Given the description of an element on the screen output the (x, y) to click on. 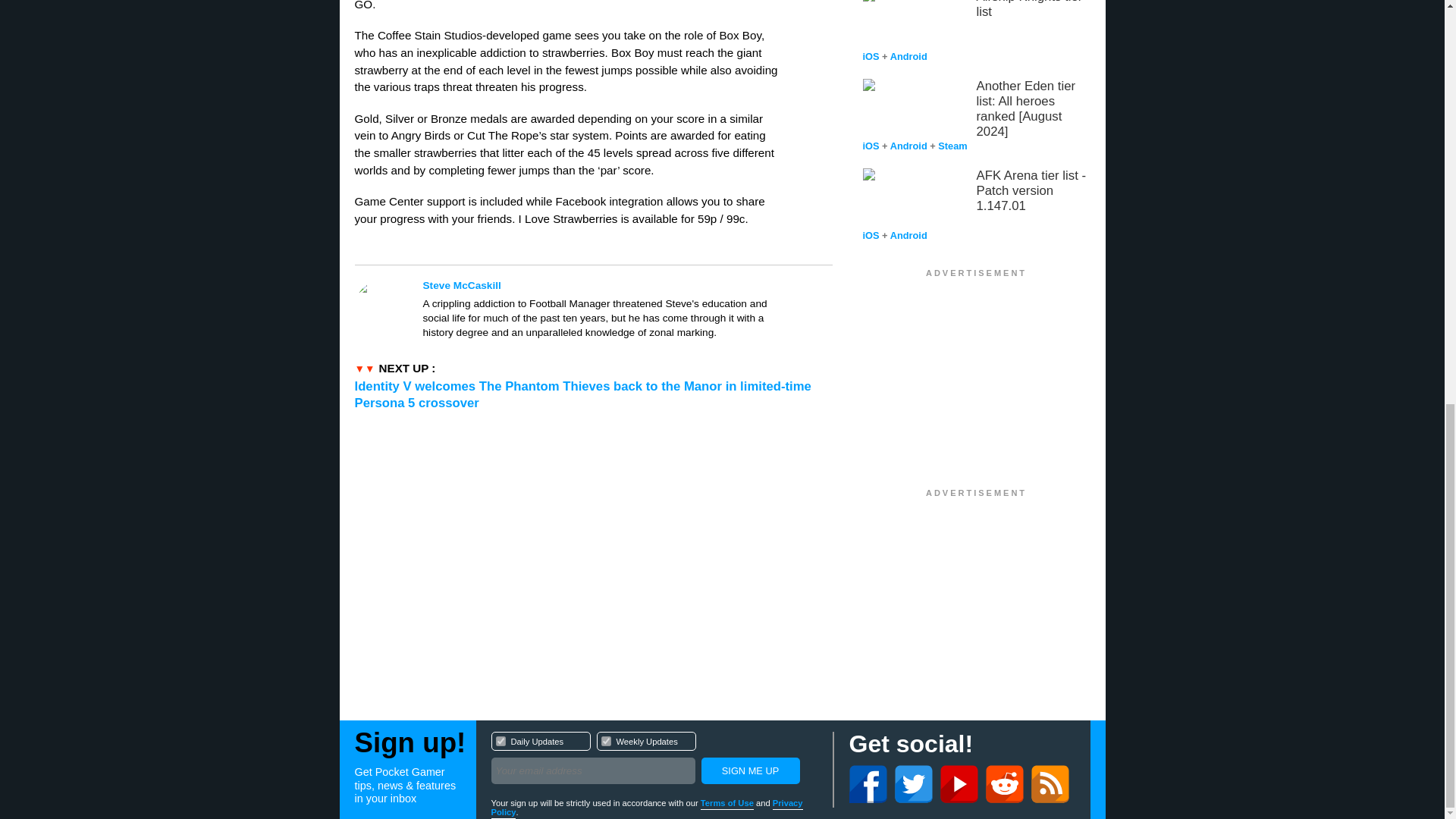
Steve McCaskill (600, 285)
2 (604, 741)
Terms of Use (727, 803)
1 (500, 741)
Sign Me Up (749, 770)
Sign Me Up (654, 759)
